Given the description of an element on the screen output the (x, y) to click on. 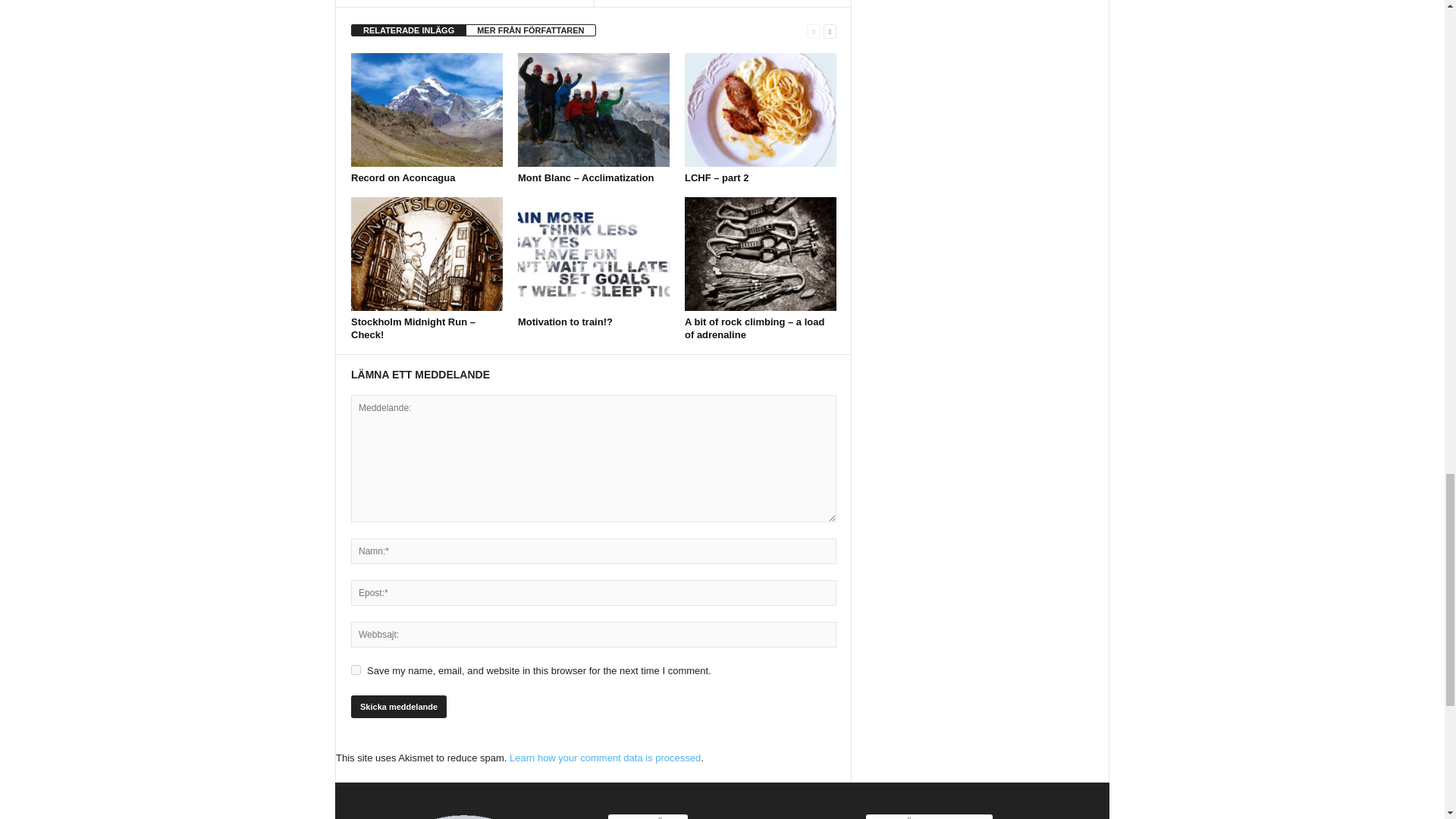
yes (355, 669)
Skicka meddelande (398, 706)
